Given the description of an element on the screen output the (x, y) to click on. 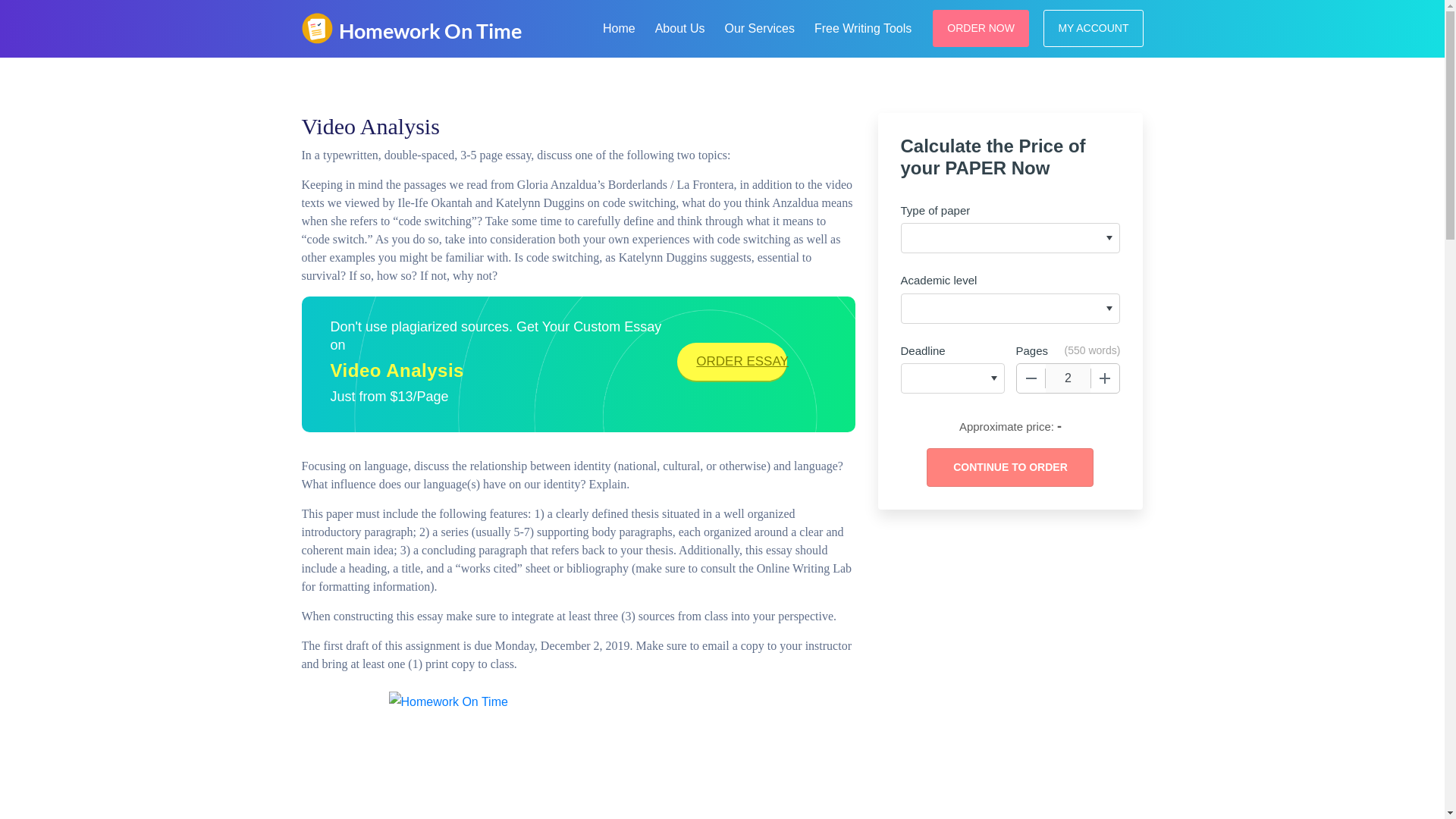
Increase (1104, 378)
2 (1067, 378)
Continue to order (1009, 466)
About Us (680, 26)
MY ACCOUNT (1092, 27)
Free Writing Tools (862, 26)
Free Writing Tools (862, 26)
Decrease (1030, 378)
Our Services (758, 26)
Home (619, 26)
